Given the description of an element on the screen output the (x, y) to click on. 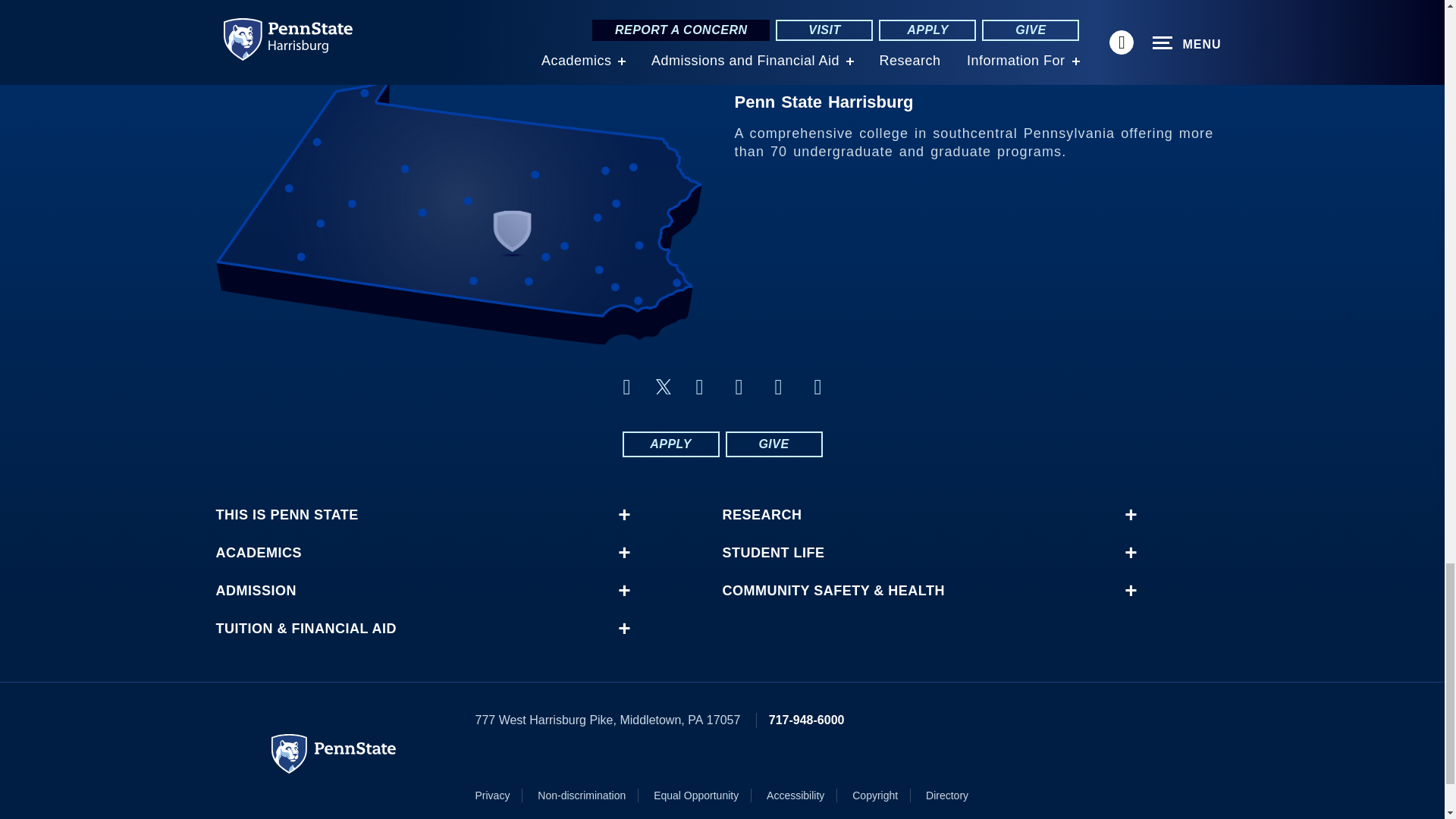
linkedin (699, 386)
flickr (738, 386)
facebook (626, 386)
youtube (778, 386)
